Given the description of an element on the screen output the (x, y) to click on. 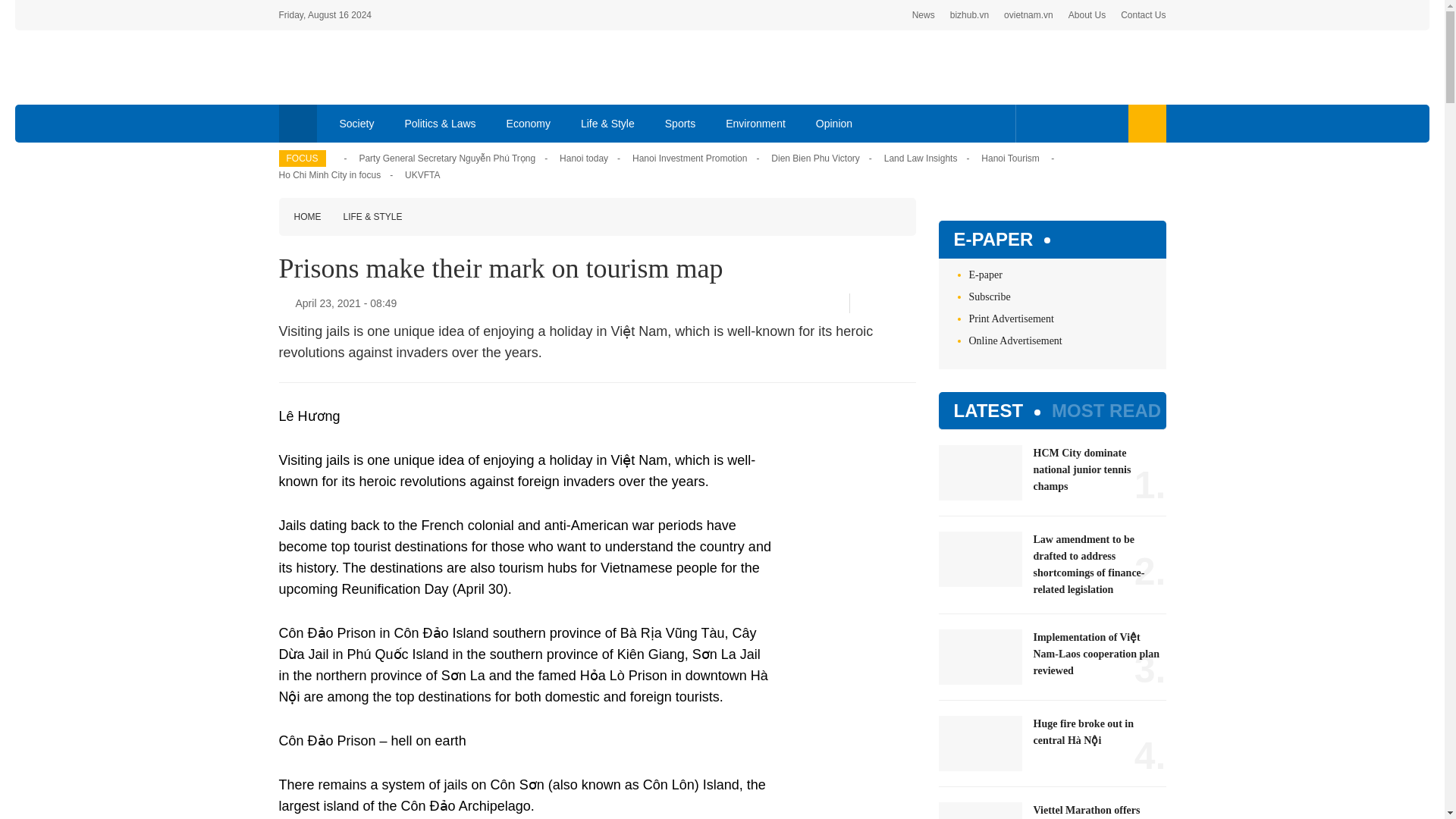
About Us (1086, 15)
Opinion (833, 123)
Facebook (1035, 123)
Environment (755, 123)
Youtube (1081, 122)
Society (357, 123)
Economy (529, 123)
News (923, 15)
bizhub.vn (969, 15)
Twitter (885, 303)
